Given the description of an element on the screen output the (x, y) to click on. 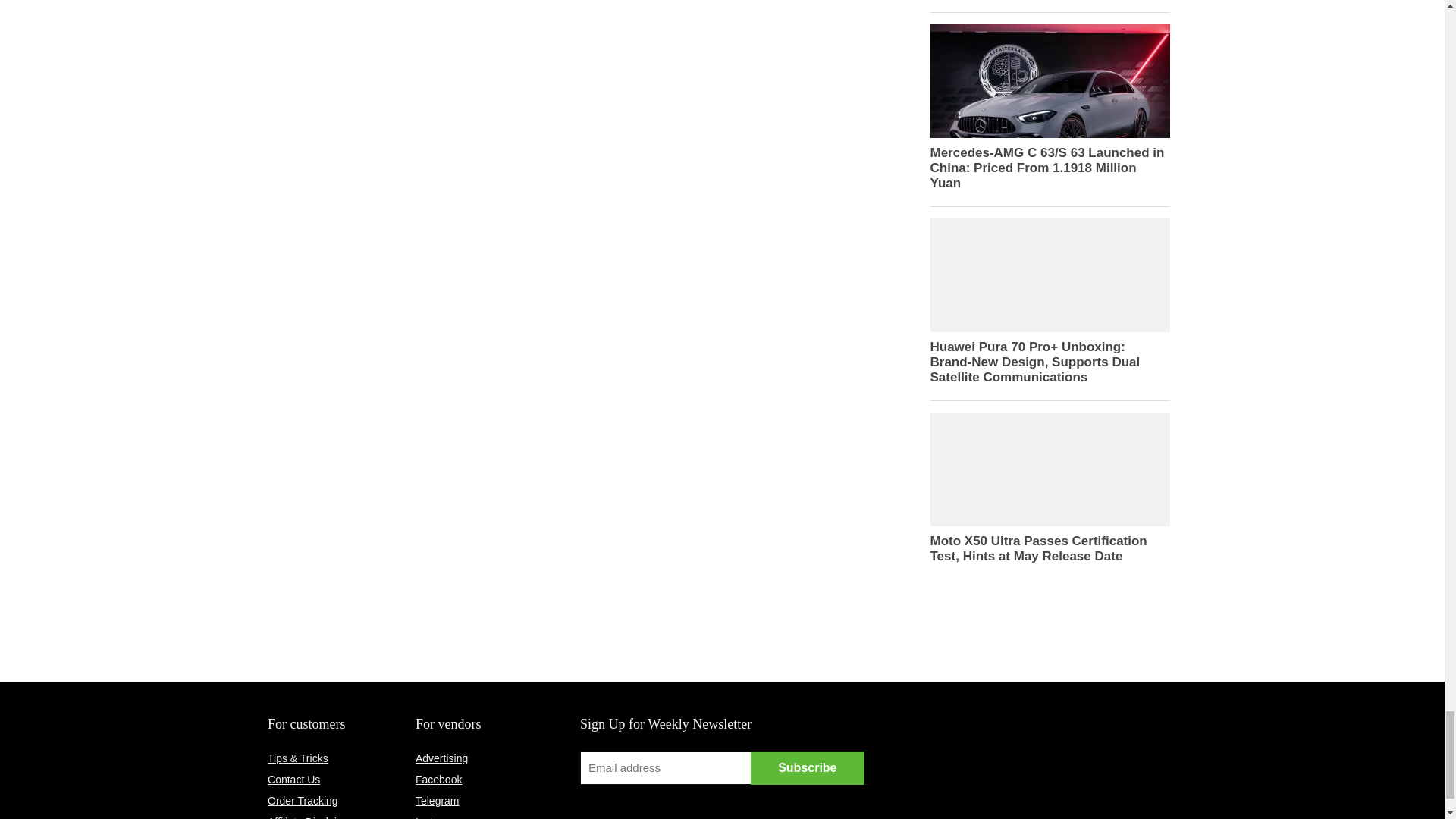
Subscribe (807, 767)
